Given the description of an element on the screen output the (x, y) to click on. 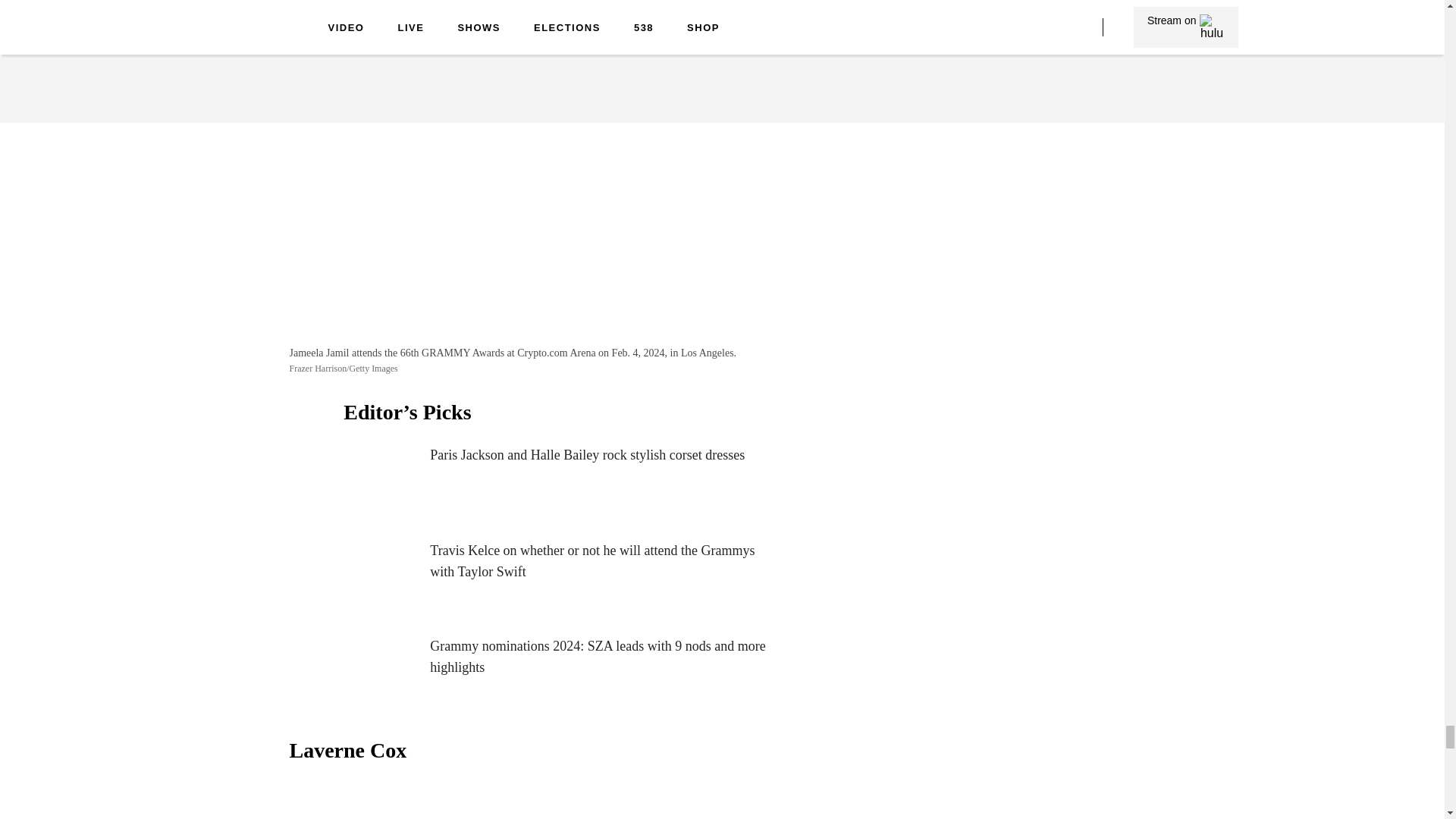
Paris Jackson and Halle Bailey rock stylish corset dresses (560, 482)
